Given the description of an element on the screen output the (x, y) to click on. 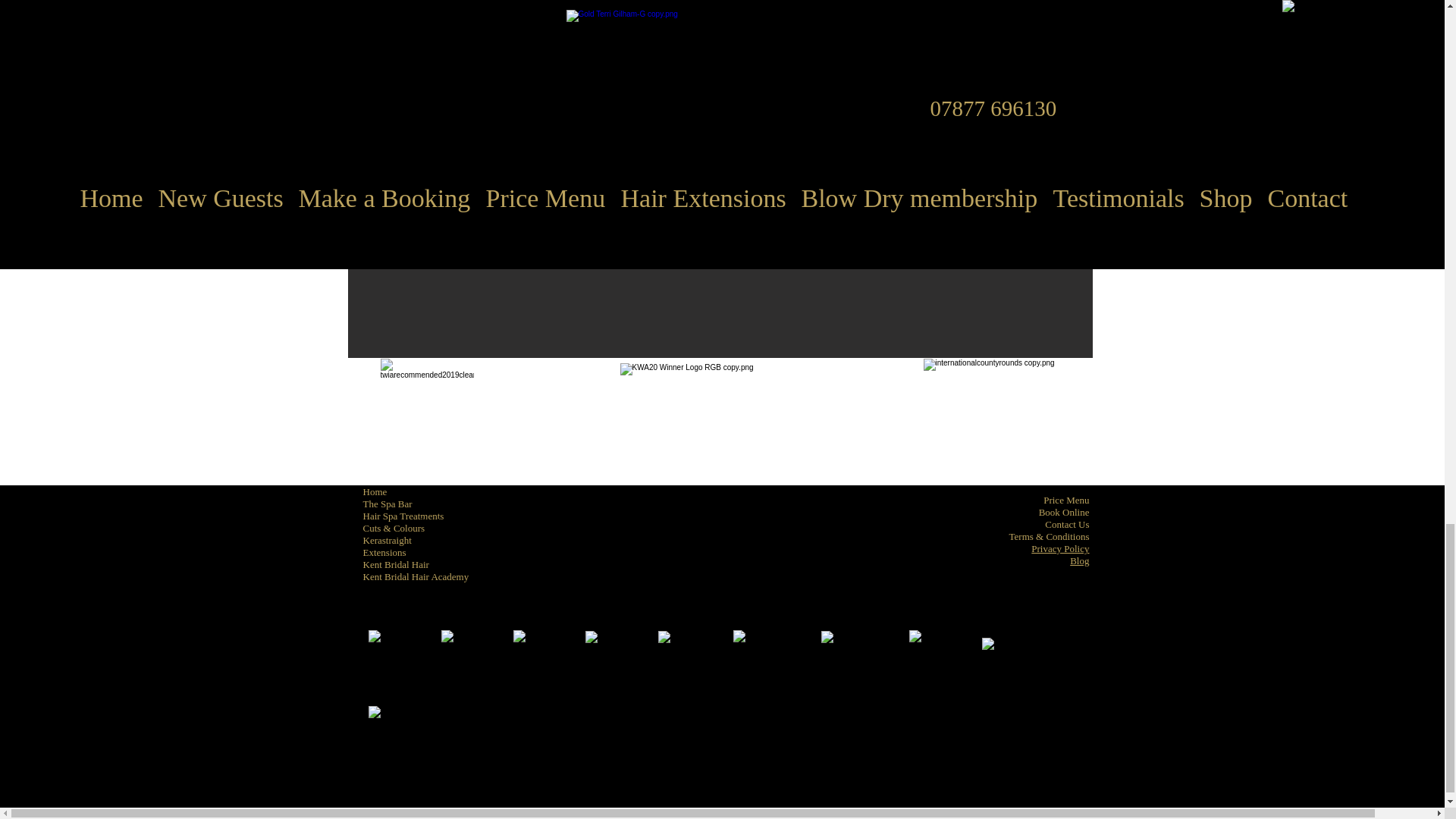
Kent Bridal Hair Academy (415, 576)
Book Online (1064, 511)
Blog (1079, 560)
Privacy Policy (1059, 548)
Home (374, 491)
Kent Bridal Hair (395, 564)
Price Menu (1066, 500)
Contact Us (1067, 523)
Hair Spa Treatments (403, 515)
The Spa Bar (387, 503)
